Given the description of an element on the screen output the (x, y) to click on. 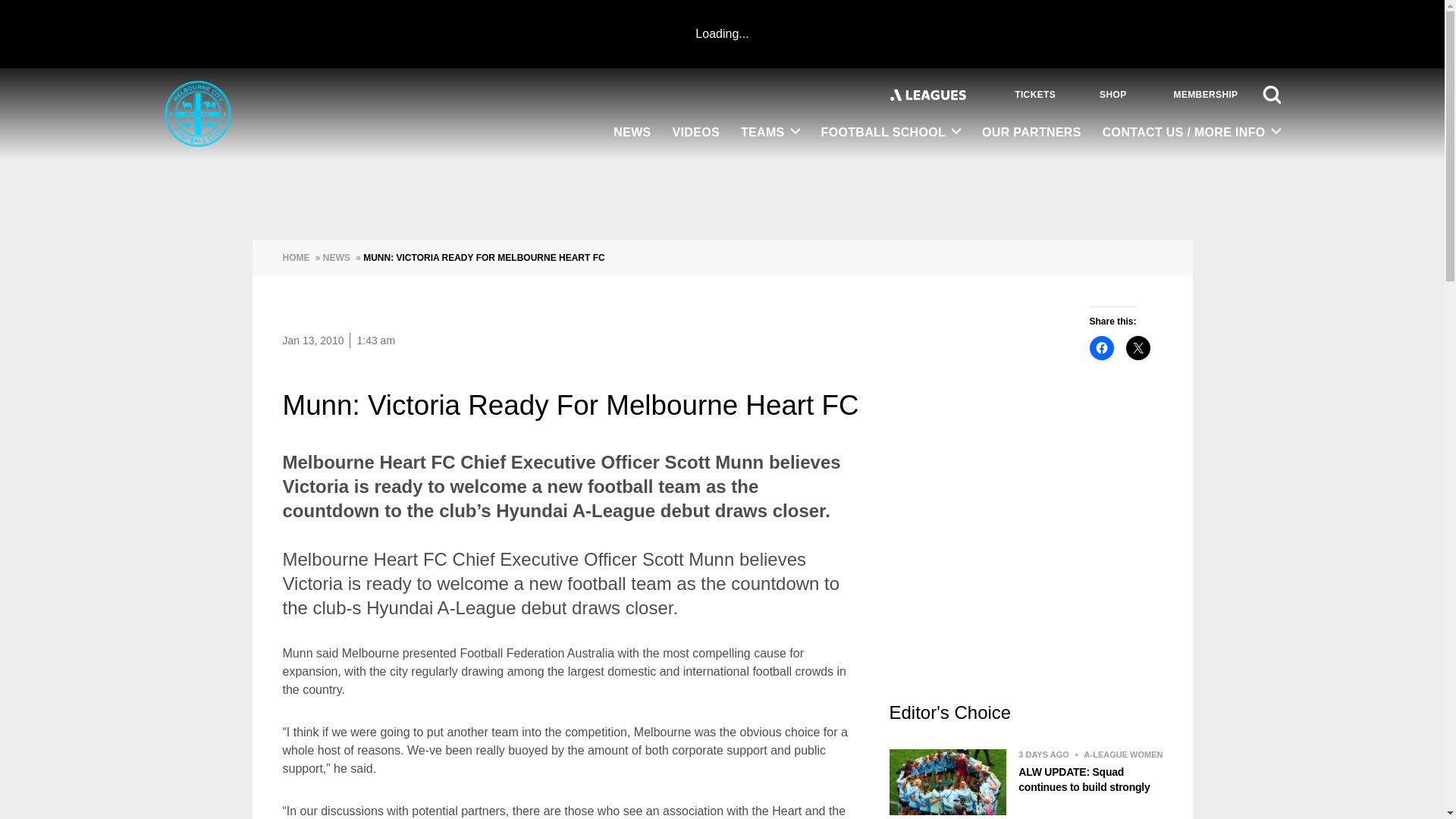
Click to share on X (1137, 347)
FOOTBALL SCHOOL (891, 132)
VIDEOS (696, 133)
OUR PARTNERS (1031, 133)
NEWS (631, 133)
TEAMS (770, 132)
Click to share on Facebook (1101, 347)
